Given the description of an element on the screen output the (x, y) to click on. 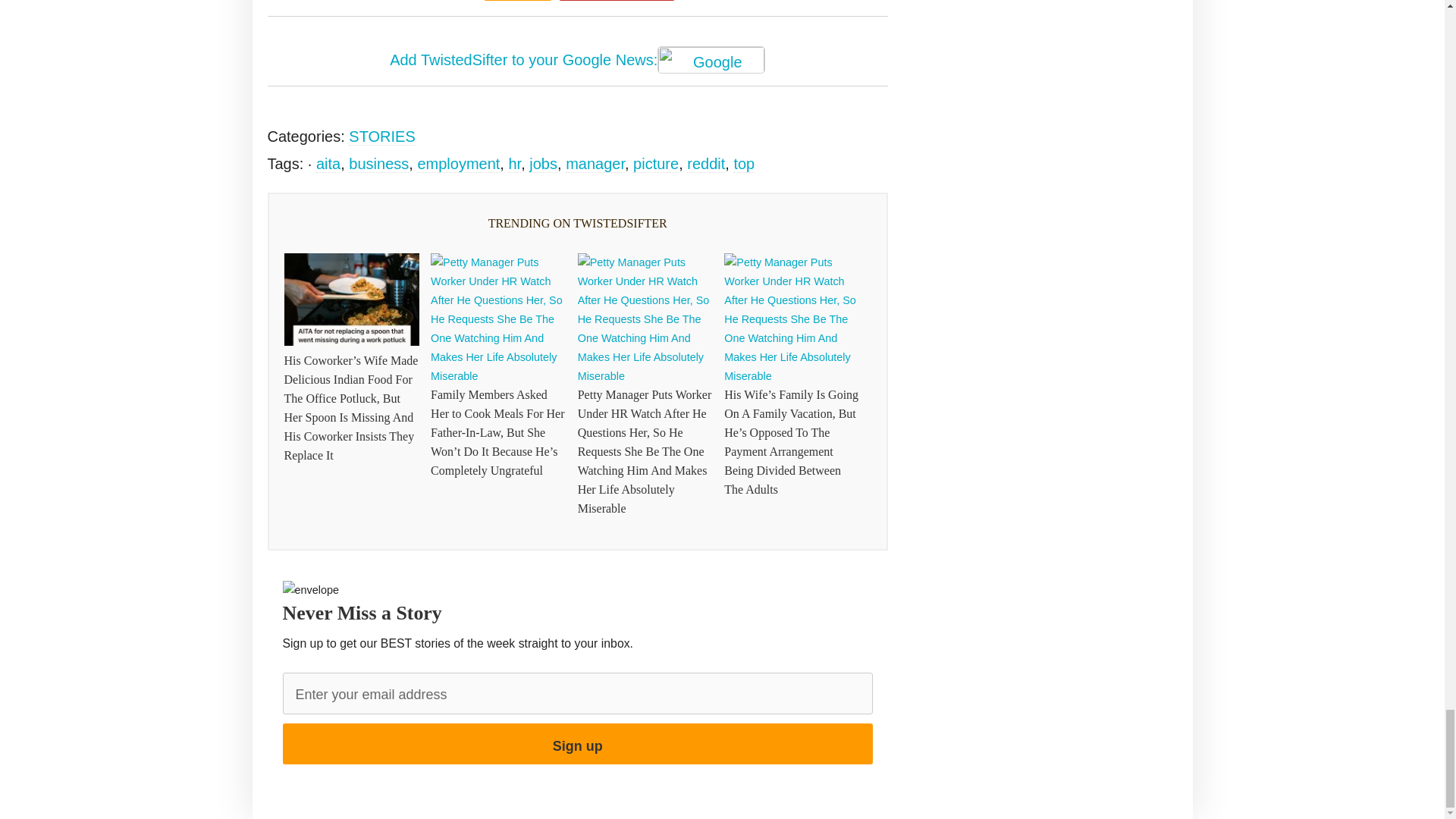
employment (457, 163)
STORIES (381, 136)
Add TwistedSifter to your Google News: (577, 61)
Sign up (577, 743)
Google News (711, 59)
hr (514, 163)
business (379, 163)
Email This (517, 0)
aita (327, 163)
